Given the description of an element on the screen output the (x, y) to click on. 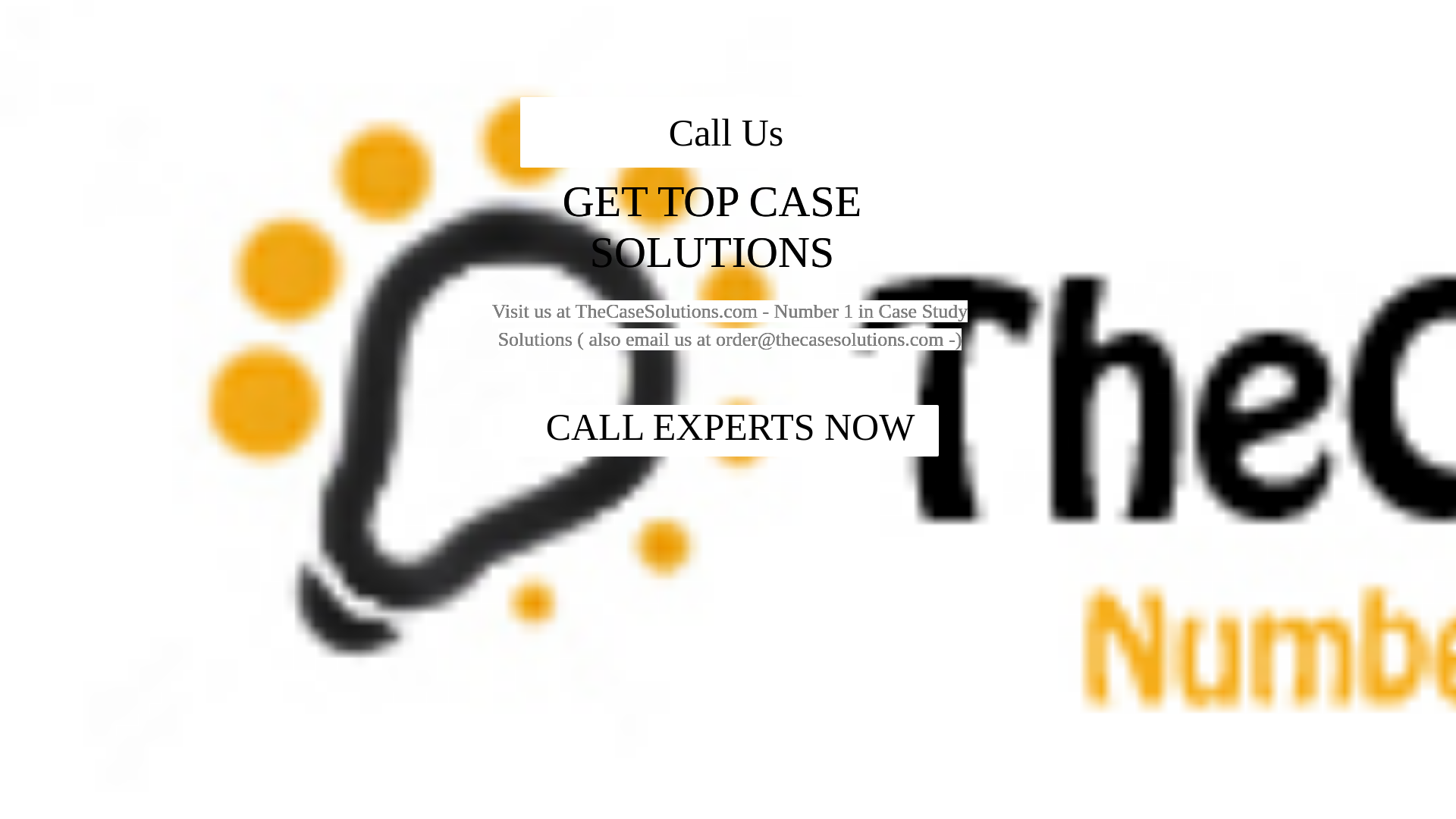
DMCA Policy (996, 282)
Search (1050, 85)
click for more (451, 162)
Latest Article (996, 172)
Contact Us (991, 258)
August 2017 (996, 432)
ADMINISTRATOR (417, 81)
Privacy Policy (999, 306)
Blog (976, 510)
Log in (980, 588)
Disclaimer (990, 354)
RSS (977, 612)
Skip to content (34, 9)
Search for: (1049, 47)
Search (1050, 85)
